Given the description of an element on the screen output the (x, y) to click on. 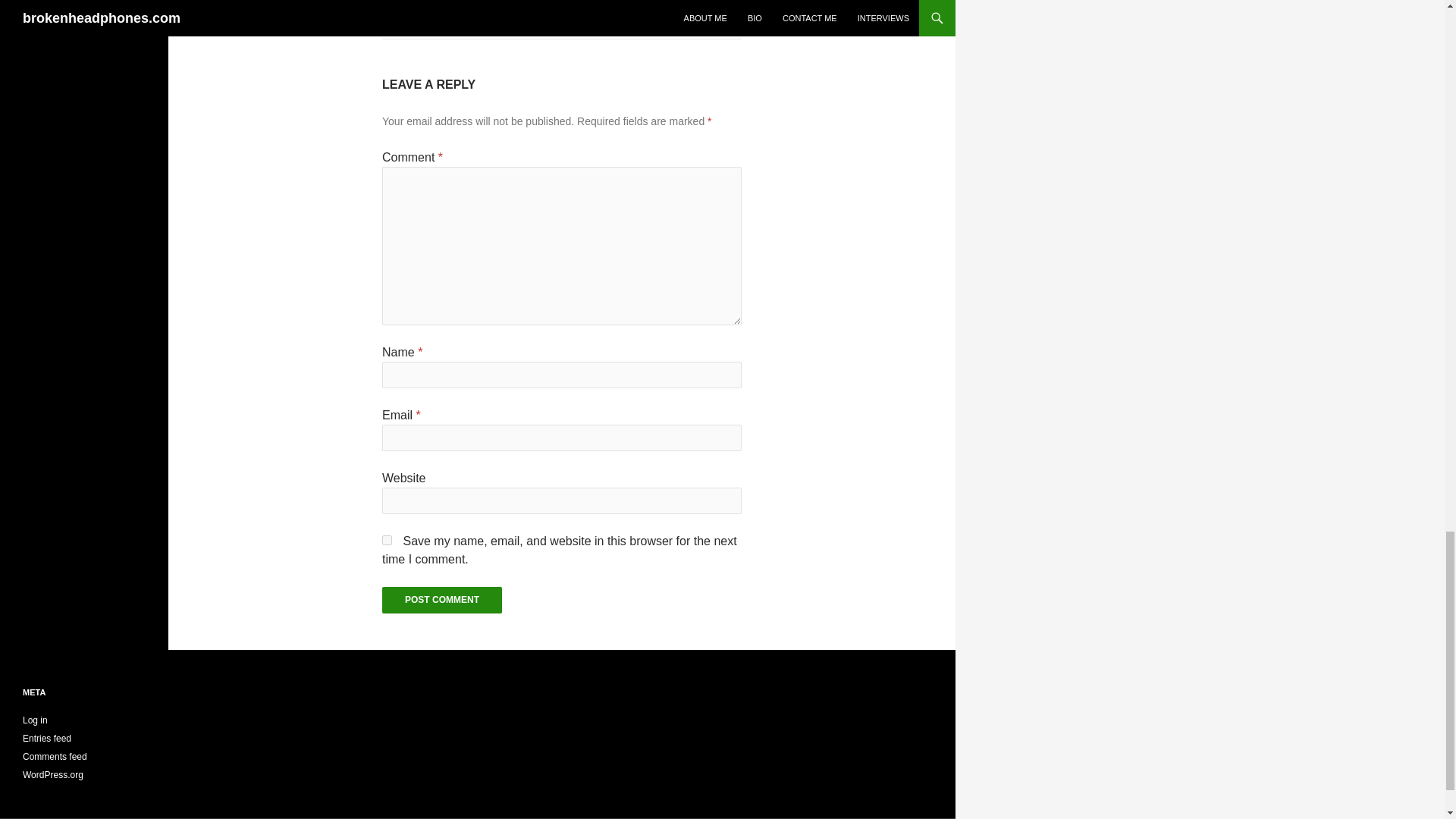
Entries feed (47, 738)
yes (386, 540)
Post Comment (441, 600)
Post Comment (441, 600)
Log in (35, 719)
